Given the description of an element on the screen output the (x, y) to click on. 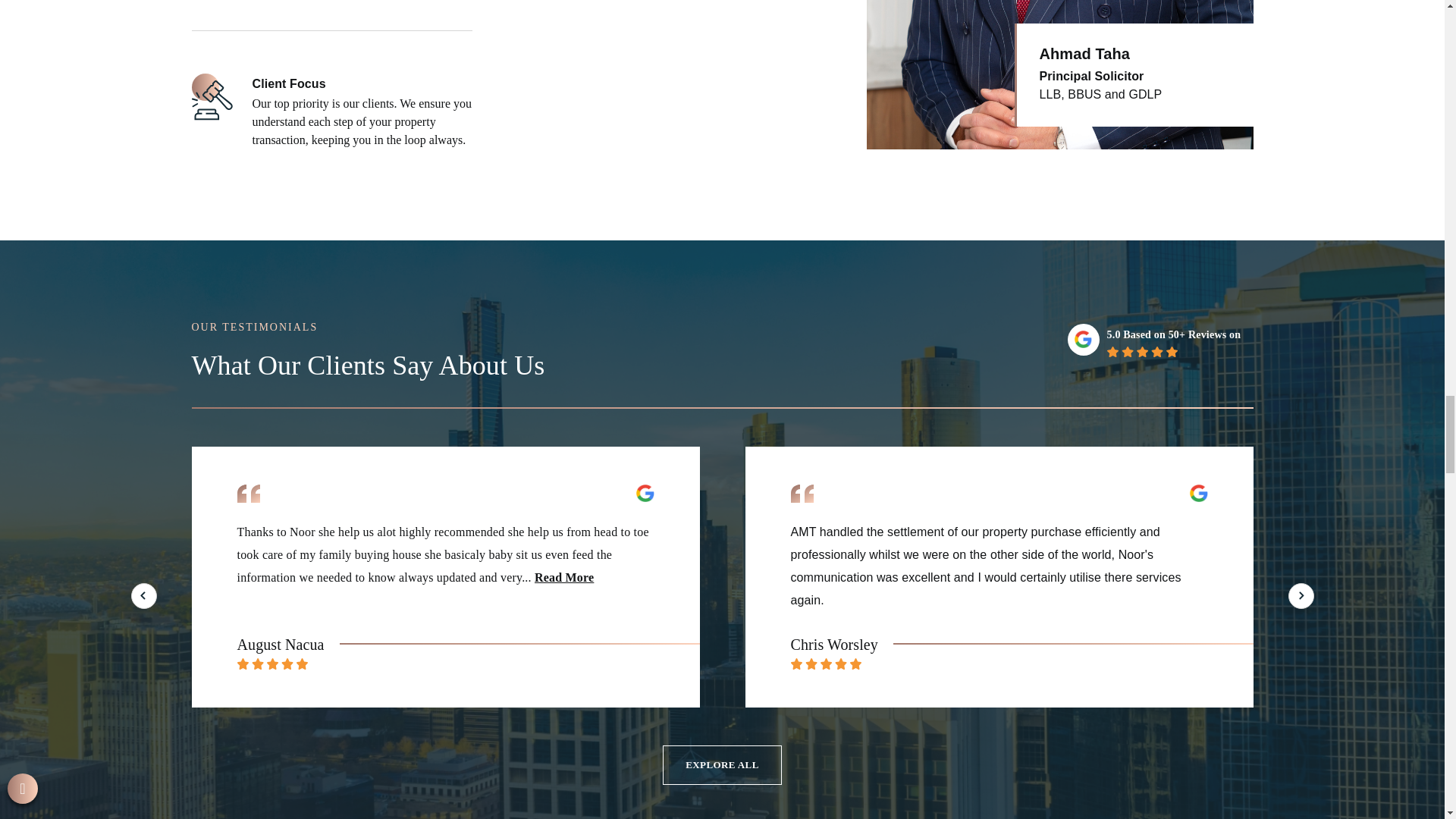
star (1141, 351)
google (1083, 339)
